Given the description of an element on the screen output the (x, y) to click on. 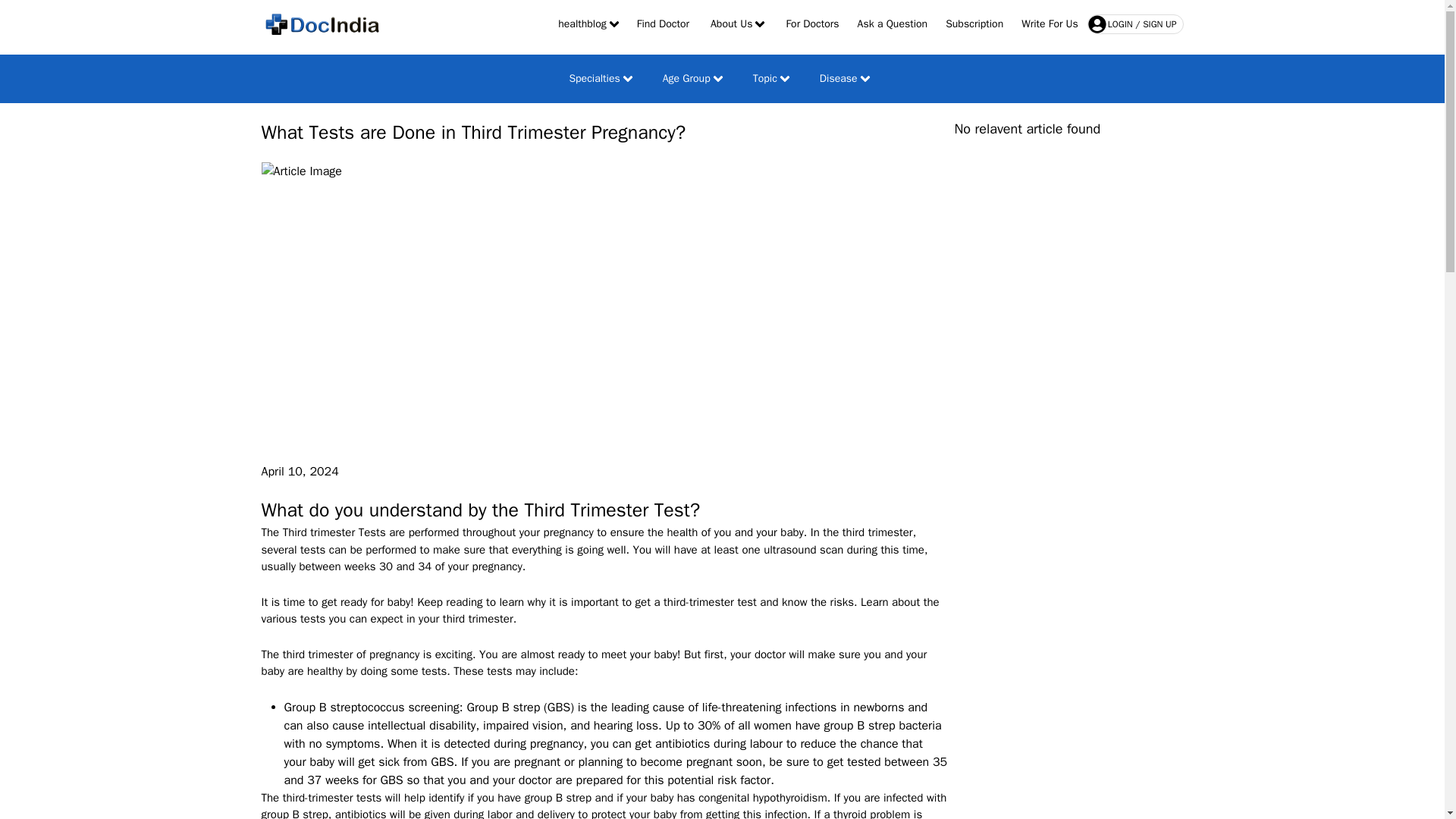
Subscription (973, 23)
Find Doctor (662, 23)
Ask a Question (892, 23)
About Us (737, 23)
healthblog (587, 23)
For Doctors (811, 23)
Write For Us (1049, 23)
